Given the description of an element on the screen output the (x, y) to click on. 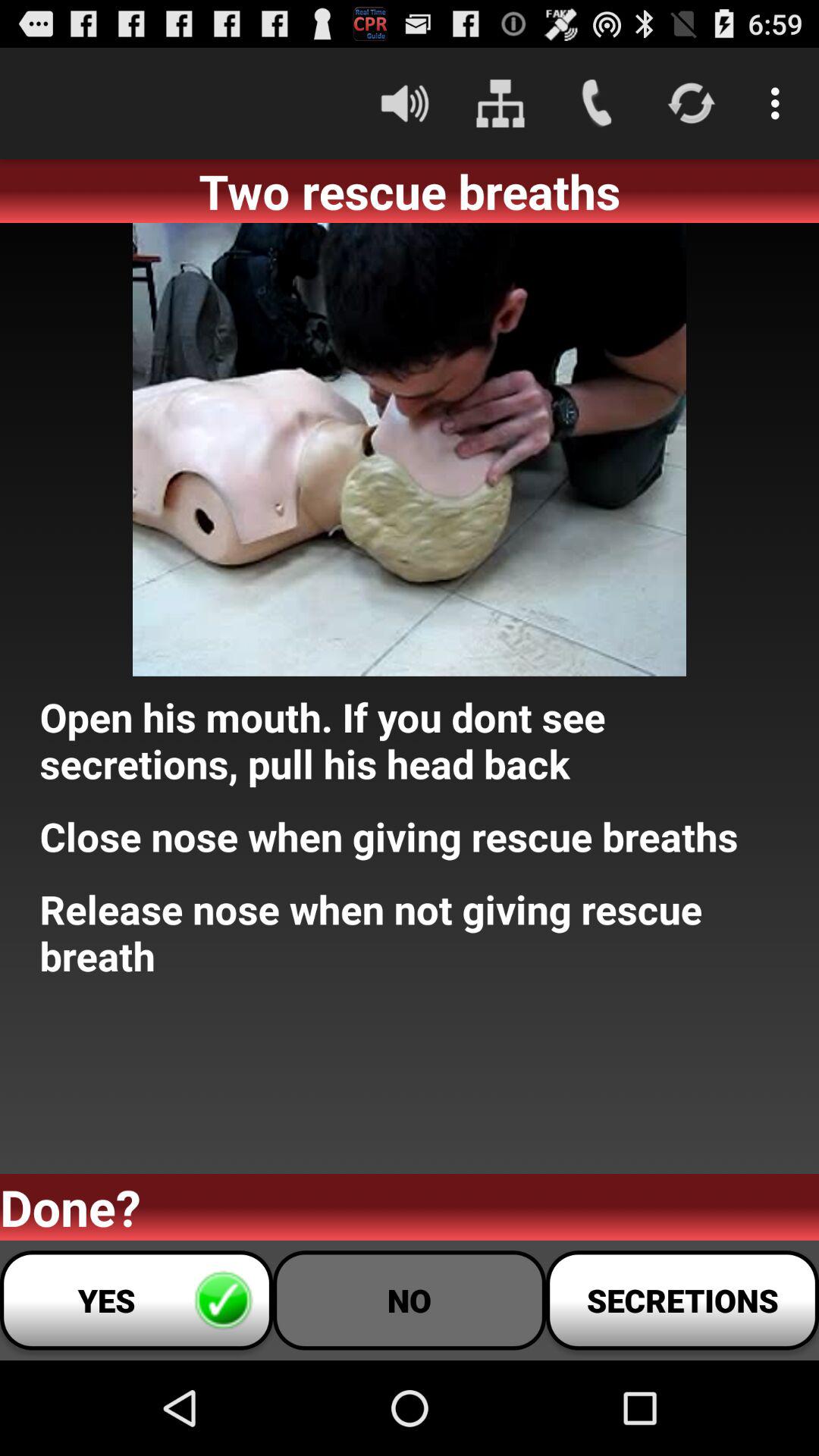
open yes (136, 1300)
